Given the description of an element on the screen output the (x, y) to click on. 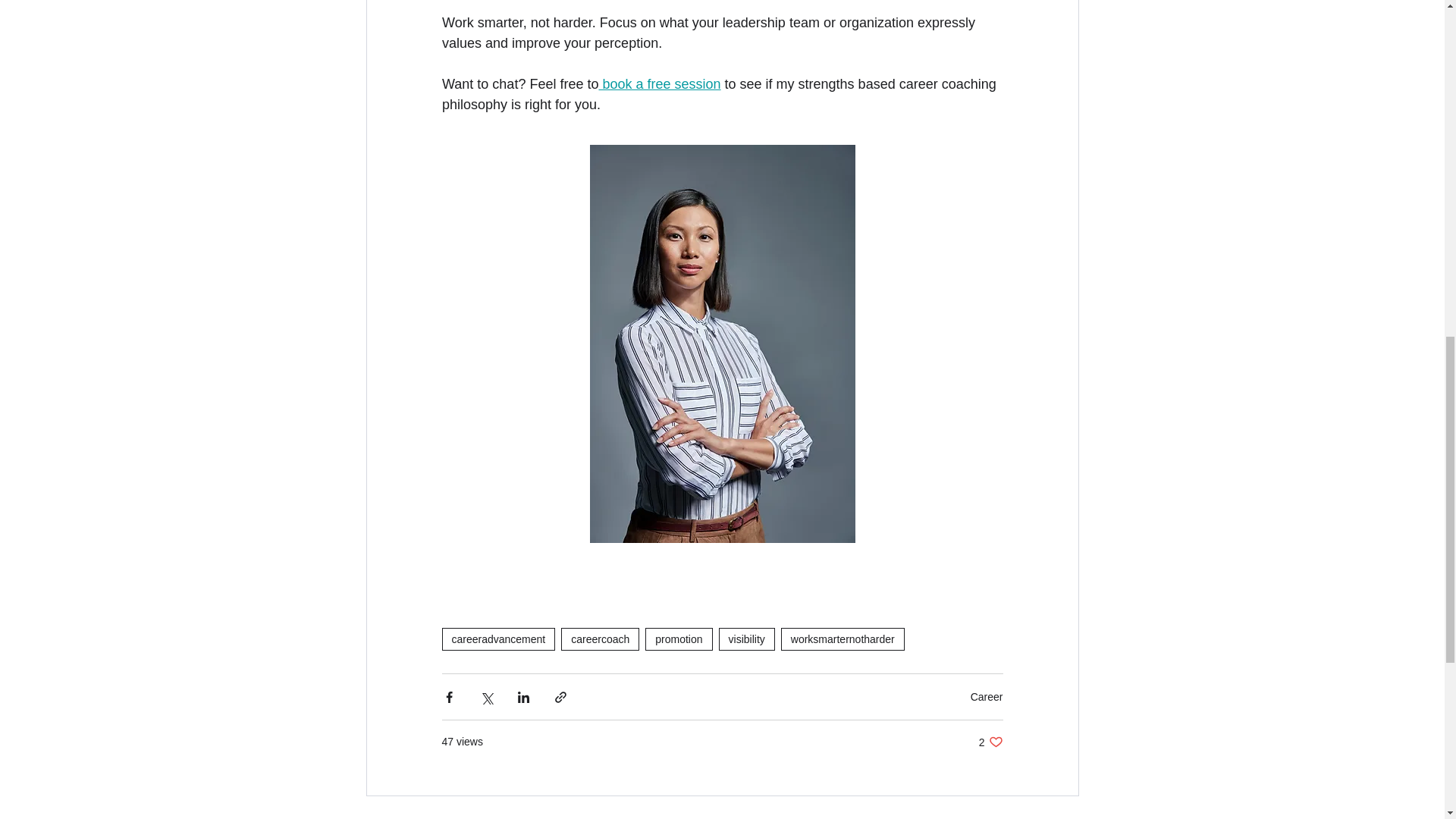
 book a free session (659, 83)
careeradvancement (497, 639)
visibility (746, 639)
See All (1061, 816)
Career (987, 696)
promotion (678, 639)
worksmarternotharder (842, 639)
careercoach (990, 741)
